Given the description of an element on the screen output the (x, y) to click on. 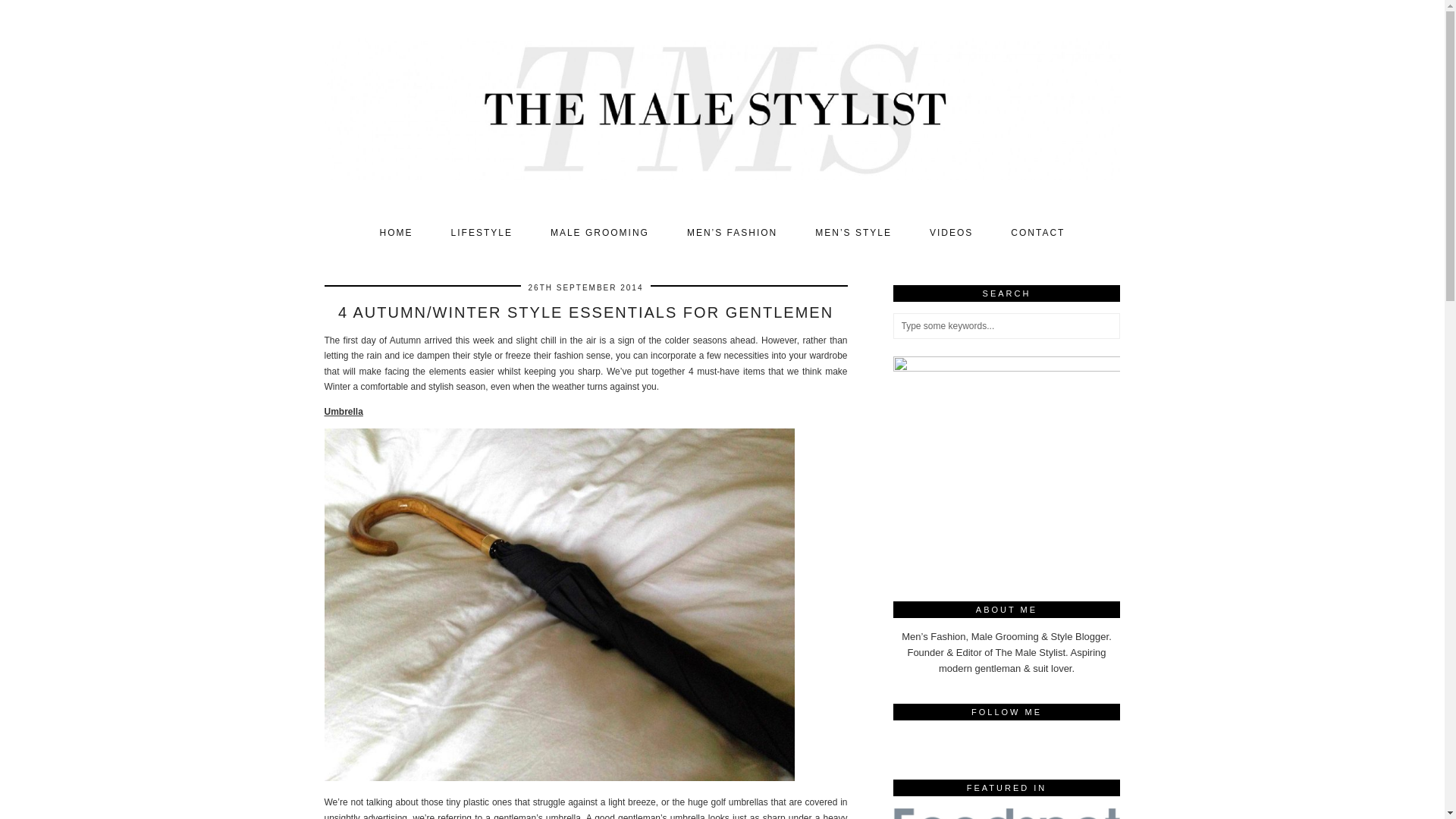
VIDEOS (951, 232)
CONTACT (1037, 232)
The Male Stylist (722, 108)
MALE GROOMING (599, 232)
Search for: (1007, 325)
HOME (396, 232)
LIFESTYLE (481, 232)
